Given the description of an element on the screen output the (x, y) to click on. 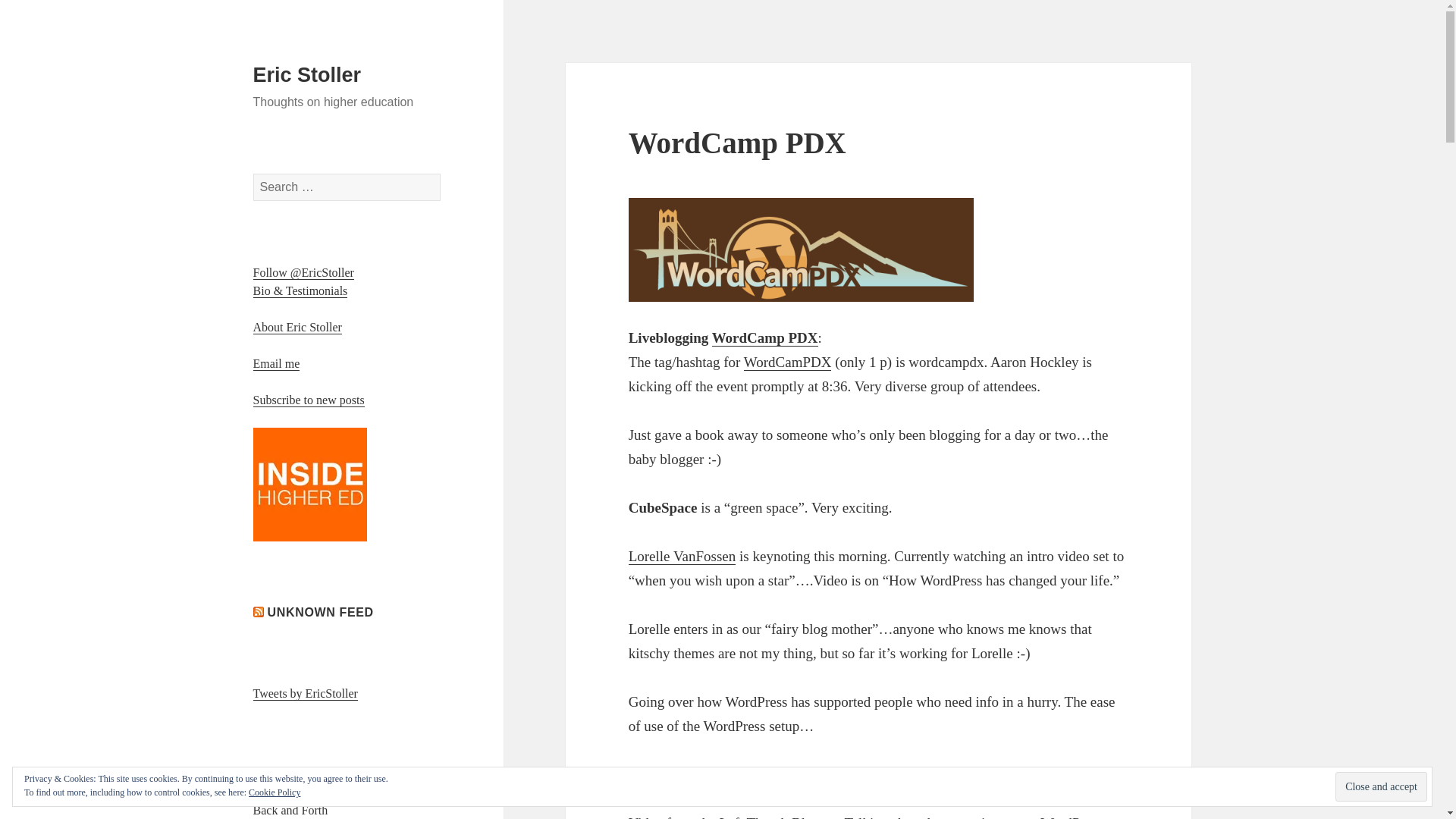
Email me (276, 364)
Email Eric (276, 364)
Subscribe to Eric Stoller's Blog Posts via Email (309, 400)
WordCamp PDX (764, 338)
Back and Forth (291, 809)
Eric Stoller (307, 74)
WordCamPDX (787, 362)
Lorelle VanFossen (682, 556)
Close and accept (1380, 786)
Subscribe to new posts (309, 400)
Tweets by EricStoller (305, 694)
UNKNOWN FEED (320, 612)
